Given the description of an element on the screen output the (x, y) to click on. 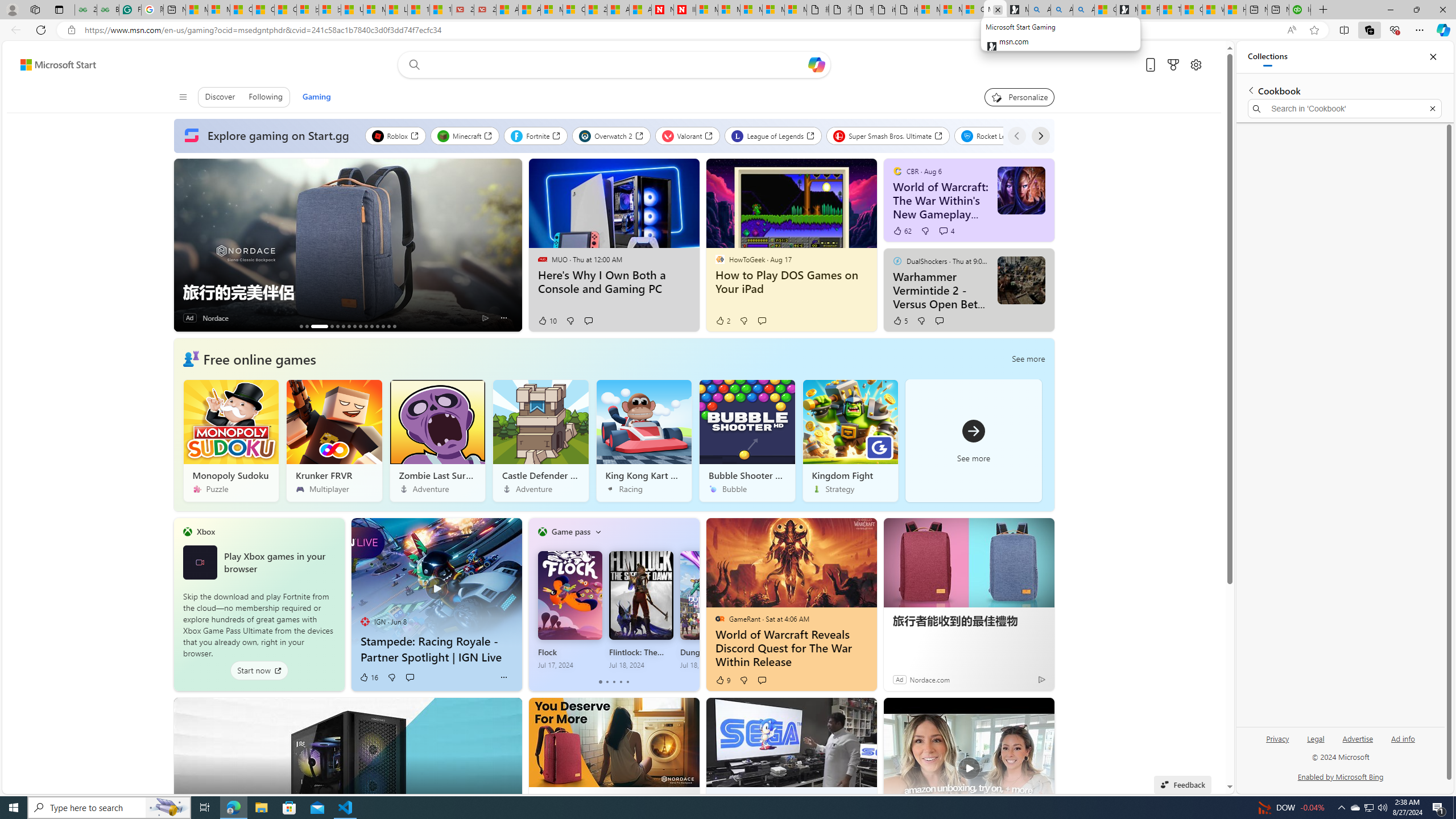
Gaming (316, 97)
25 Basic Linux Commands For Beginners - GeeksforGeeks (85, 9)
Xbox Logo (199, 562)
Hide this story (1037, 714)
Super Smash Bros. Ultimate (888, 135)
Food and Drink - MSN (1148, 9)
Nordace.com (929, 678)
Personalize your feed" (1019, 97)
CBR (897, 171)
Back to list of collections (1250, 90)
